Given the description of an element on the screen output the (x, y) to click on. 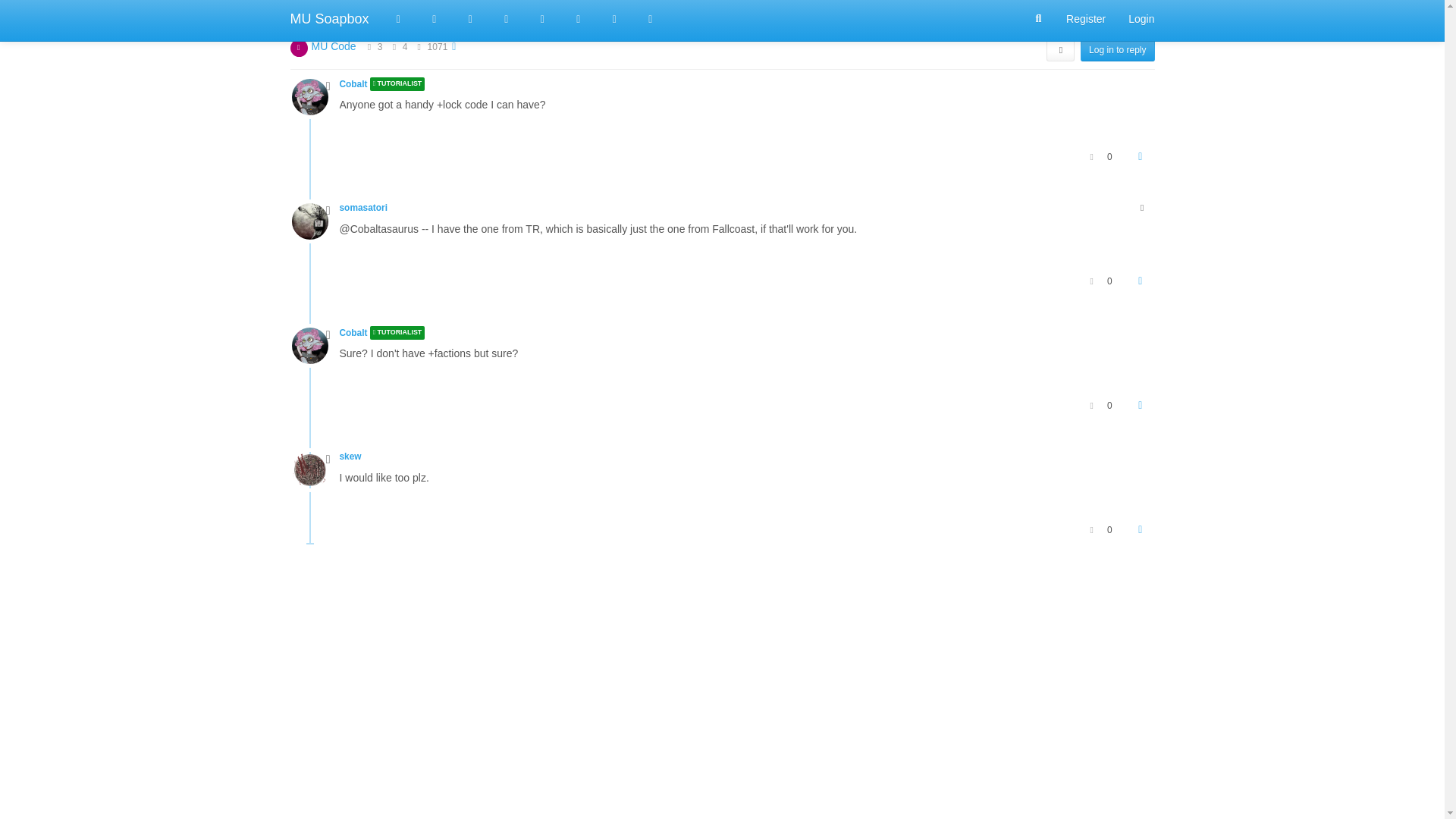
Tags (470, 18)
Mustard (649, 18)
Popular (505, 18)
Posts (393, 46)
Users (542, 18)
Search (1038, 18)
Log in to reply (1117, 49)
Muxify (614, 18)
Categories (398, 18)
Groups (578, 18)
